Given the description of an element on the screen output the (x, y) to click on. 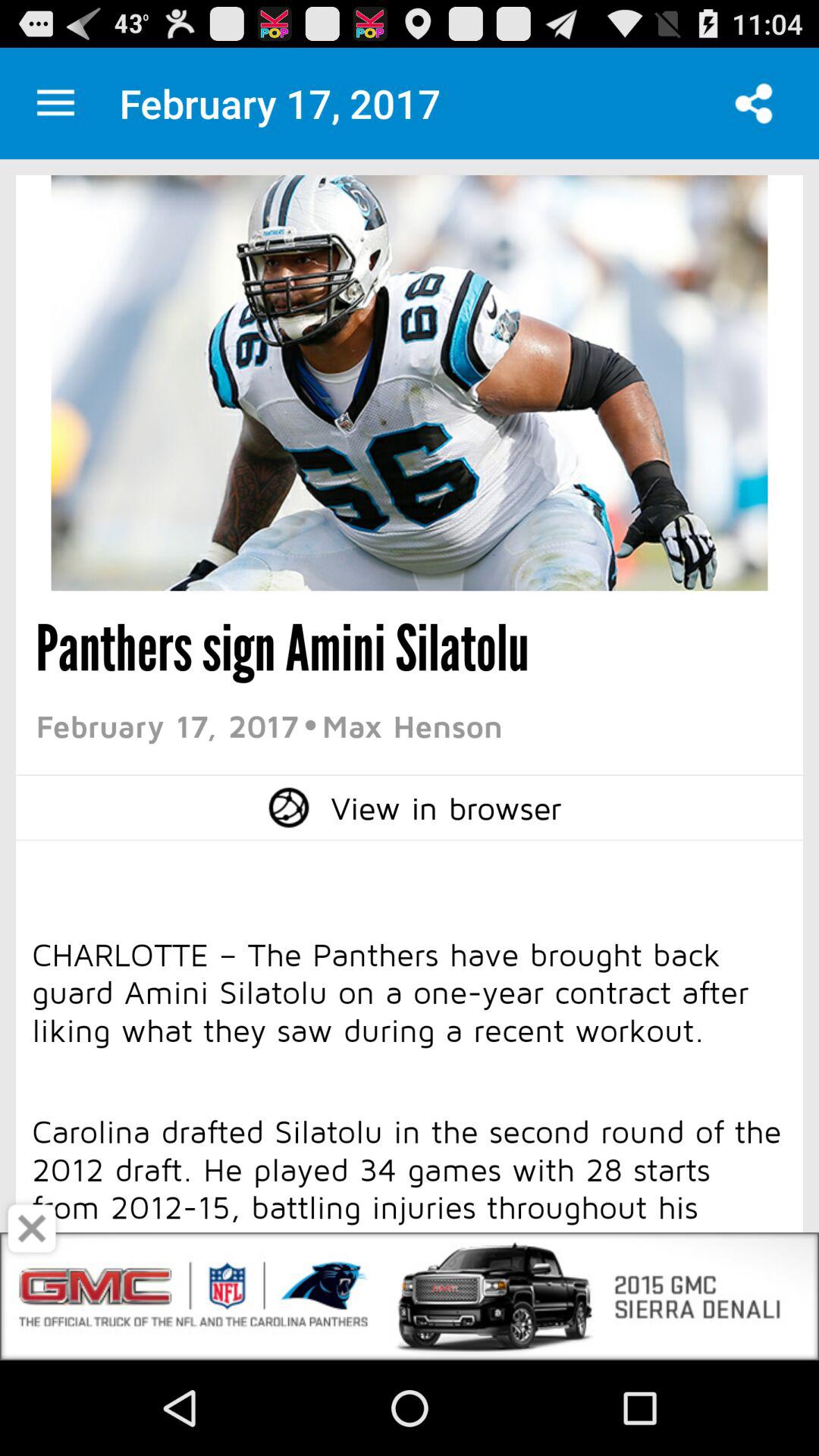
close page (31, 1228)
